Given the description of an element on the screen output the (x, y) to click on. 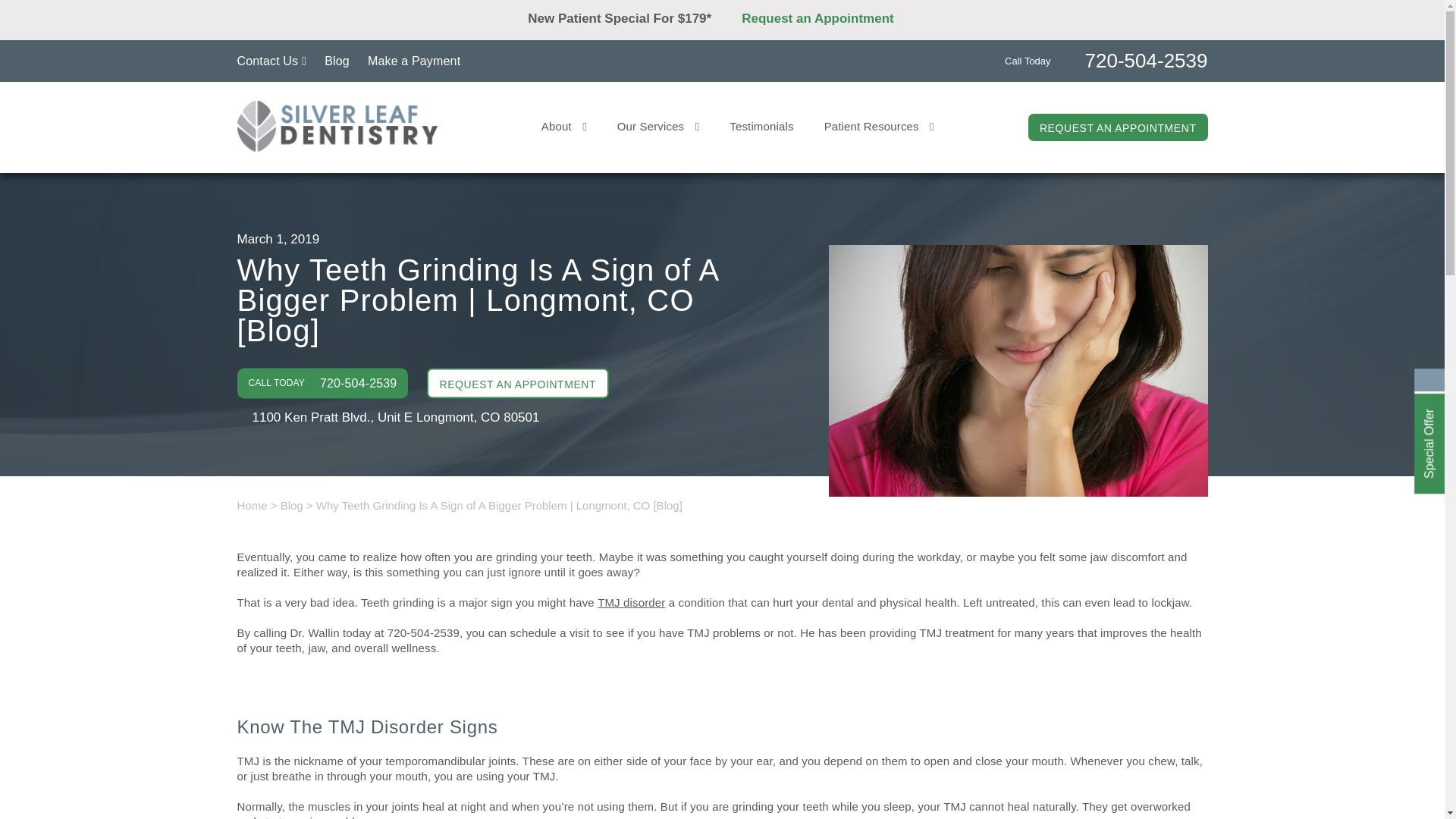
Request an Appointment (829, 18)
Blog (336, 60)
Contact Us (270, 60)
Request an Appointment (862, 33)
Make a Payment (414, 60)
Our Services (658, 126)
Call Today720-504-2539 (1105, 59)
